Given the description of an element on the screen output the (x, y) to click on. 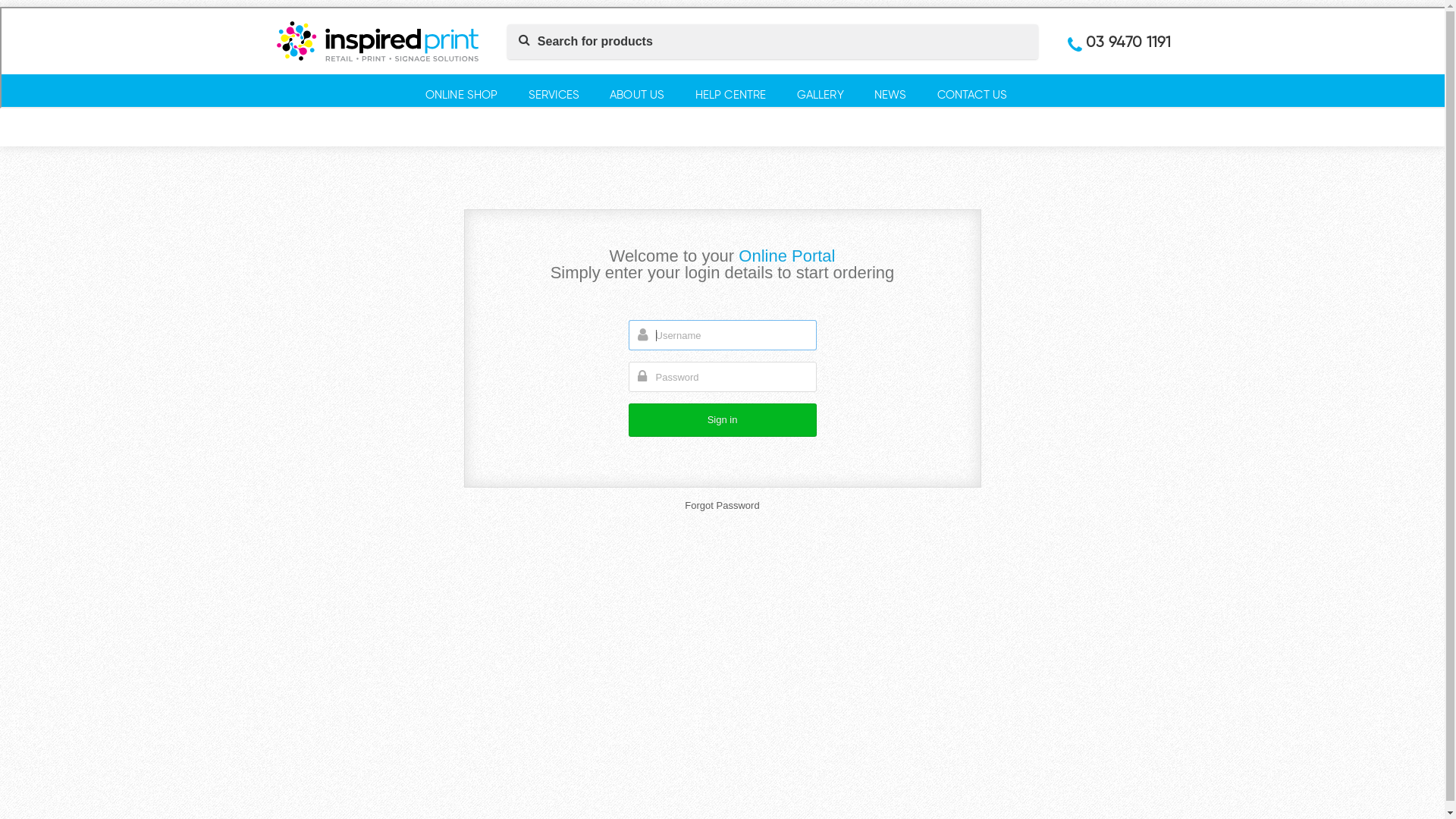
Sign in Element type: text (721, 419)
Forgot Password Element type: text (721, 505)
